Given the description of an element on the screen output the (x, y) to click on. 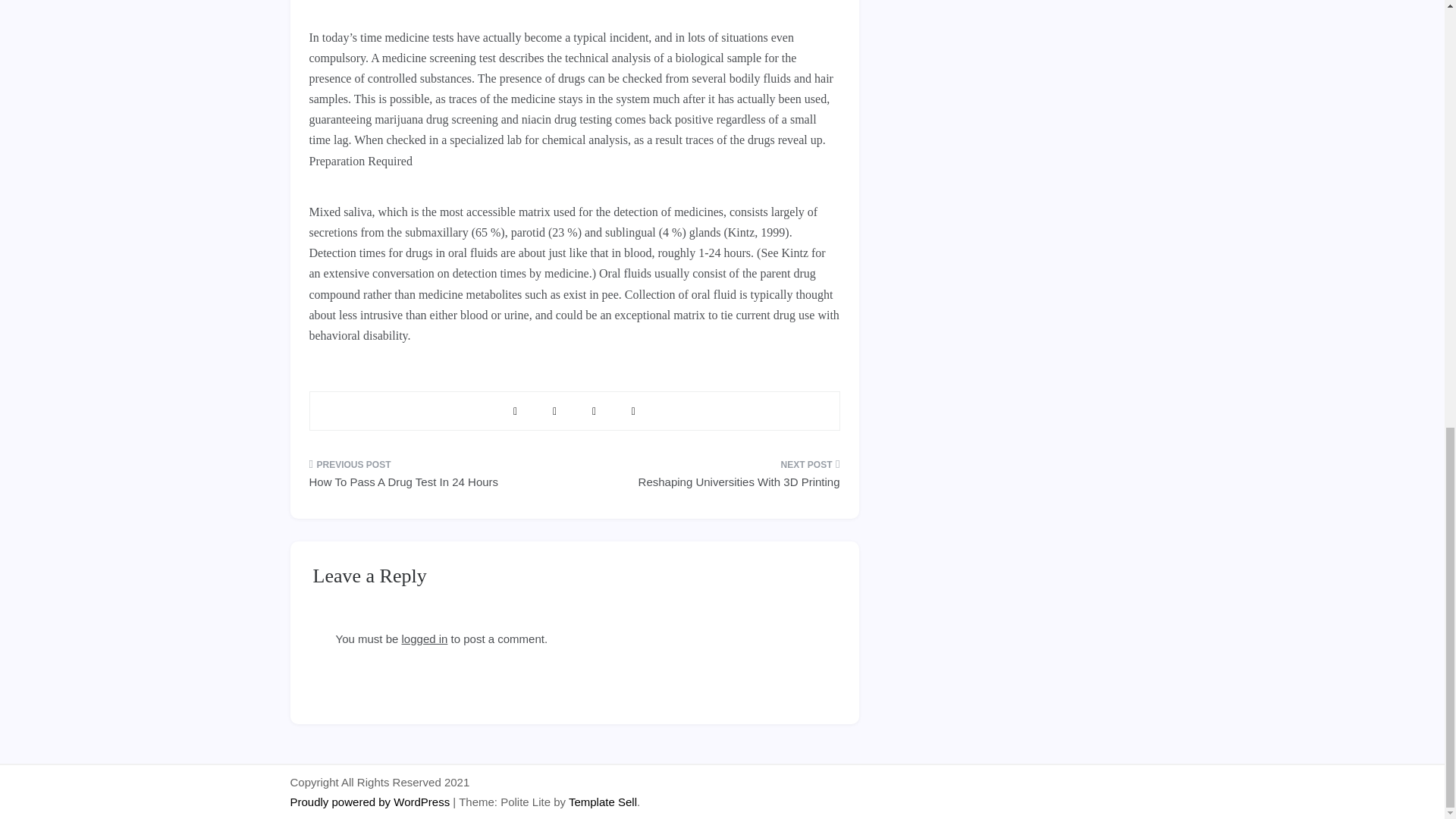
How To Pass A Drug Test In 24 Hours (435, 478)
Reshaping Universities With 3D Printing (712, 478)
logged in (424, 638)
Template Sell (603, 801)
Proudly powered by WordPress (370, 801)
